Given the description of an element on the screen output the (x, y) to click on. 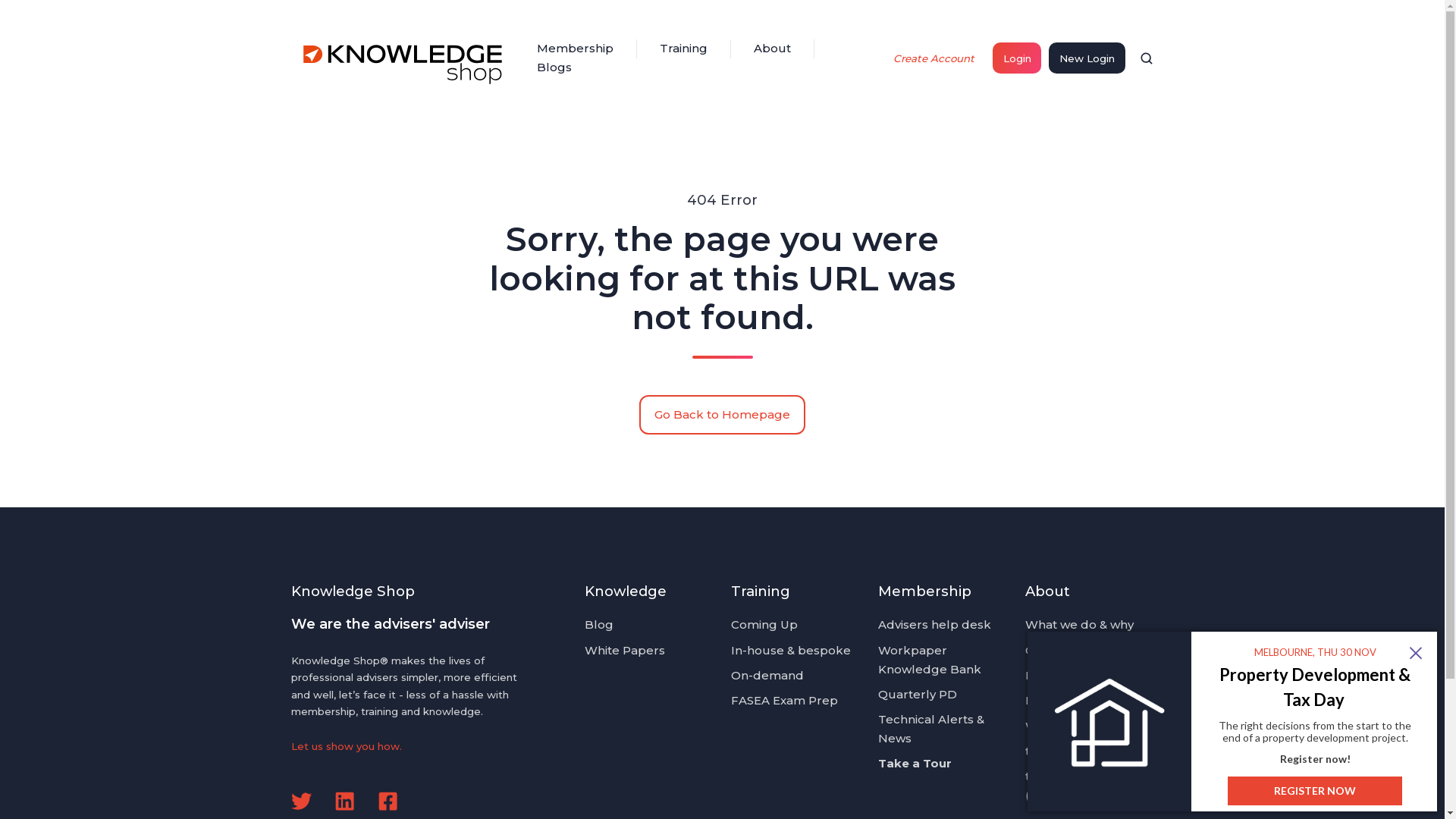
Advisers help desk Element type: text (934, 624)
Read our Twitter feed Element type: text (301, 800)
What we do & why Element type: text (1079, 624)
Take a Tour Element type: text (914, 763)
Training Element type: text (760, 590)
Blog Element type: text (598, 624)
Work with us Element type: text (1063, 725)
Membership Element type: text (924, 590)
Technical Alerts & News Element type: text (931, 728)
Coming Up Element type: text (764, 624)
Refunds Element type: text (1050, 675)
Read our Linkedin Posts Element type: text (344, 800)
About Element type: text (1047, 590)
Go Back to Homepage Element type: text (722, 414)
On-demand Element type: text (767, 675)
Workpaper Knowledge Bank Element type: text (929, 659)
FASEA Exam Prep Element type: text (784, 700)
Create Account Element type: text (934, 57)
White Papers Element type: text (624, 650)
Quarterly PD Element type: text (917, 694)
New Login Element type: text (1086, 57)
Contact us Element type: text (1056, 650)
Training Element type: text (683, 48)
Board Element type: text (1043, 700)
Blogs Element type: text (553, 67)
In-house & bespoke Element type: text (790, 650)
About Element type: text (771, 48)
Knowledge Shop Element type: hover (404, 57)
Knowledge Element type: text (625, 590)
Login Element type: text (1016, 57)
Membership Element type: text (574, 48)
